Given the description of an element on the screen output the (x, y) to click on. 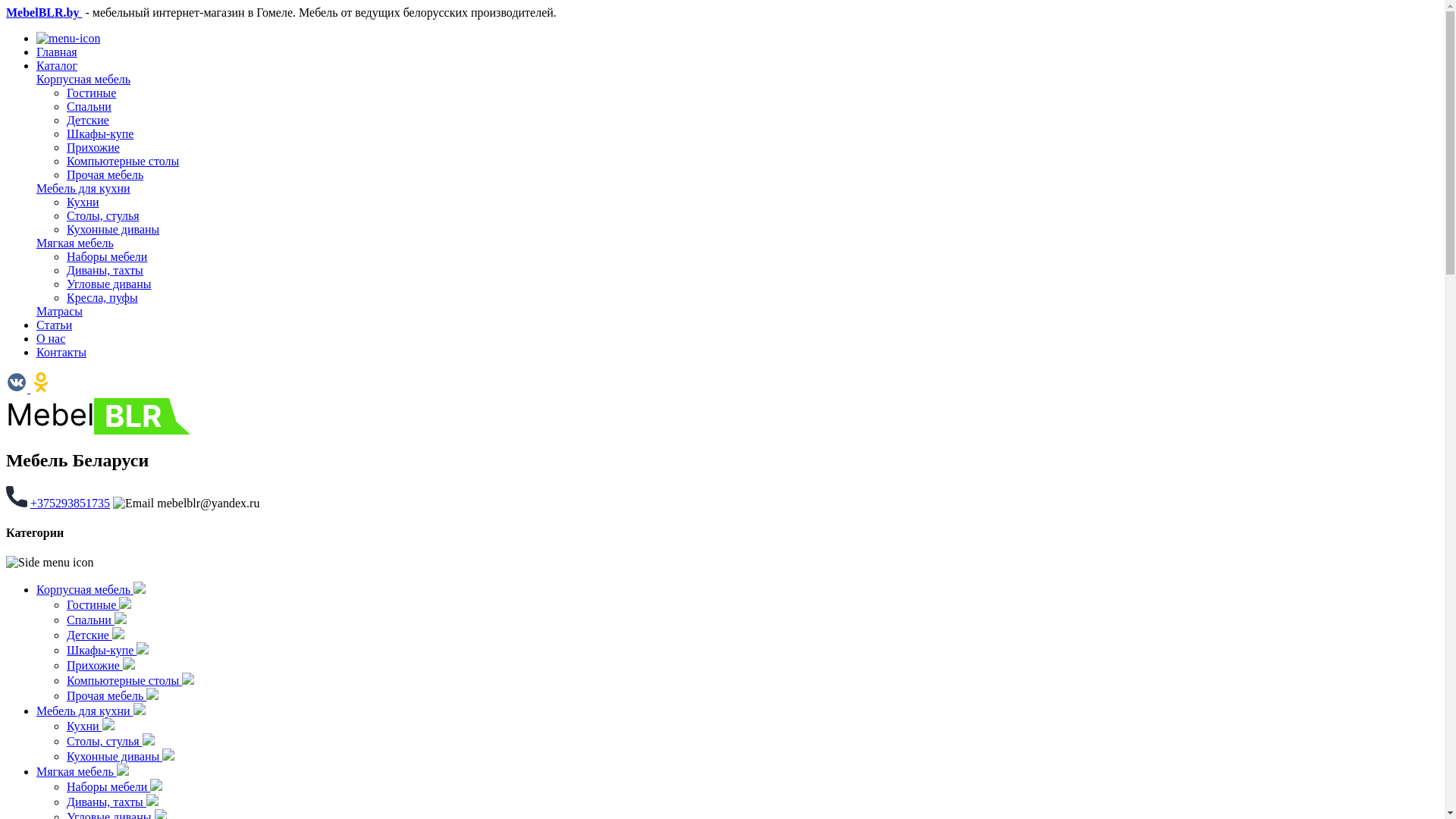
Open menu Element type: hover (68, 38)
+375293851735 Element type: text (69, 502)
MebelBLR.by Element type: text (43, 12)
